Given the description of an element on the screen output the (x, y) to click on. 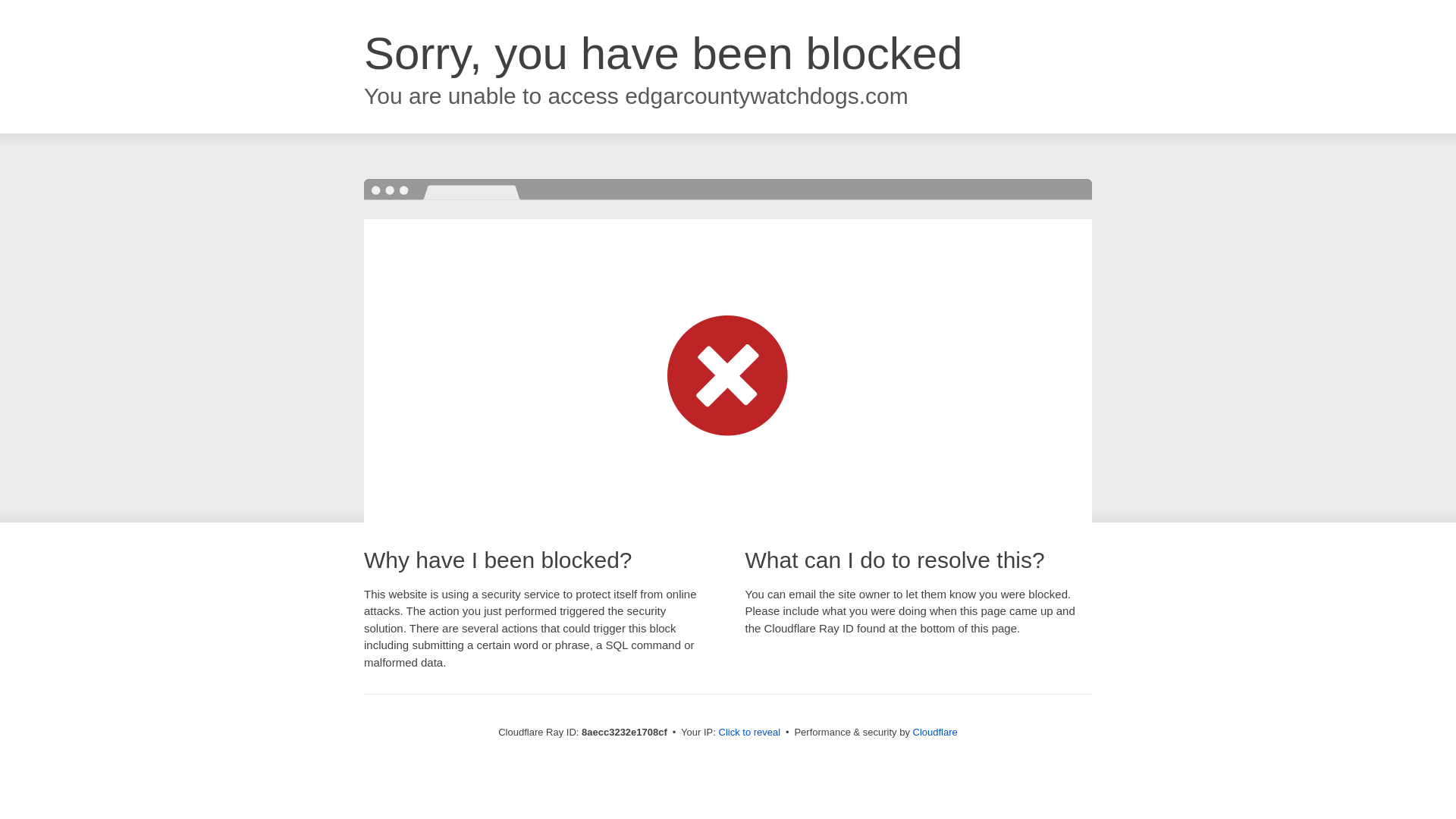
Click to reveal (749, 732)
Cloudflare (935, 731)
